Given the description of an element on the screen output the (x, y) to click on. 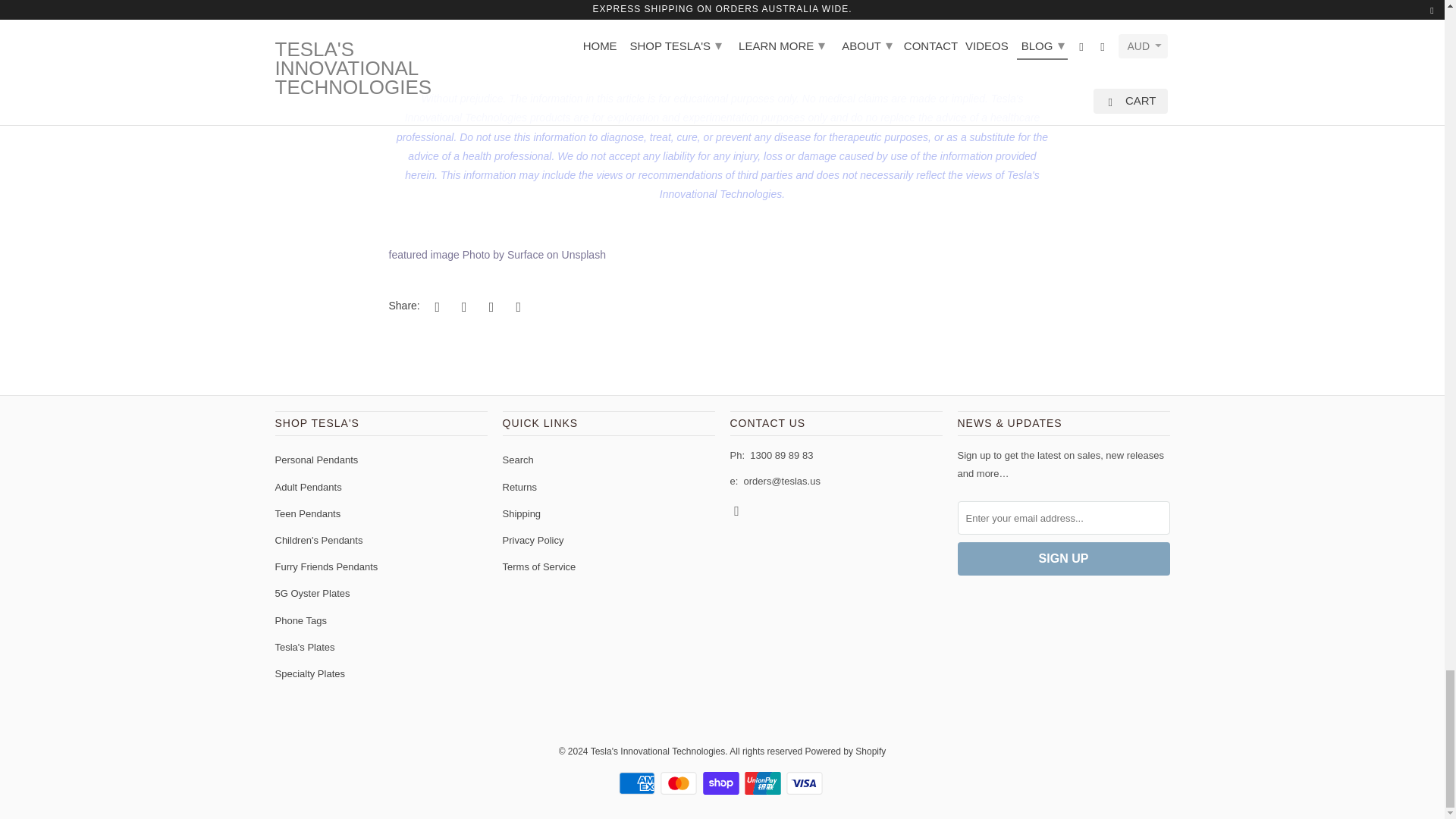
Union Pay (764, 783)
Share this on Twitter (434, 305)
Mastercard (680, 783)
Share this on Pinterest (488, 305)
Visa (805, 783)
Page 2 (721, 39)
Sign Up (1062, 558)
Email this to a friend (515, 305)
Email Tesla's Innovational Technologies (737, 509)
American Express (638, 783)
